Given the description of an element on the screen output the (x, y) to click on. 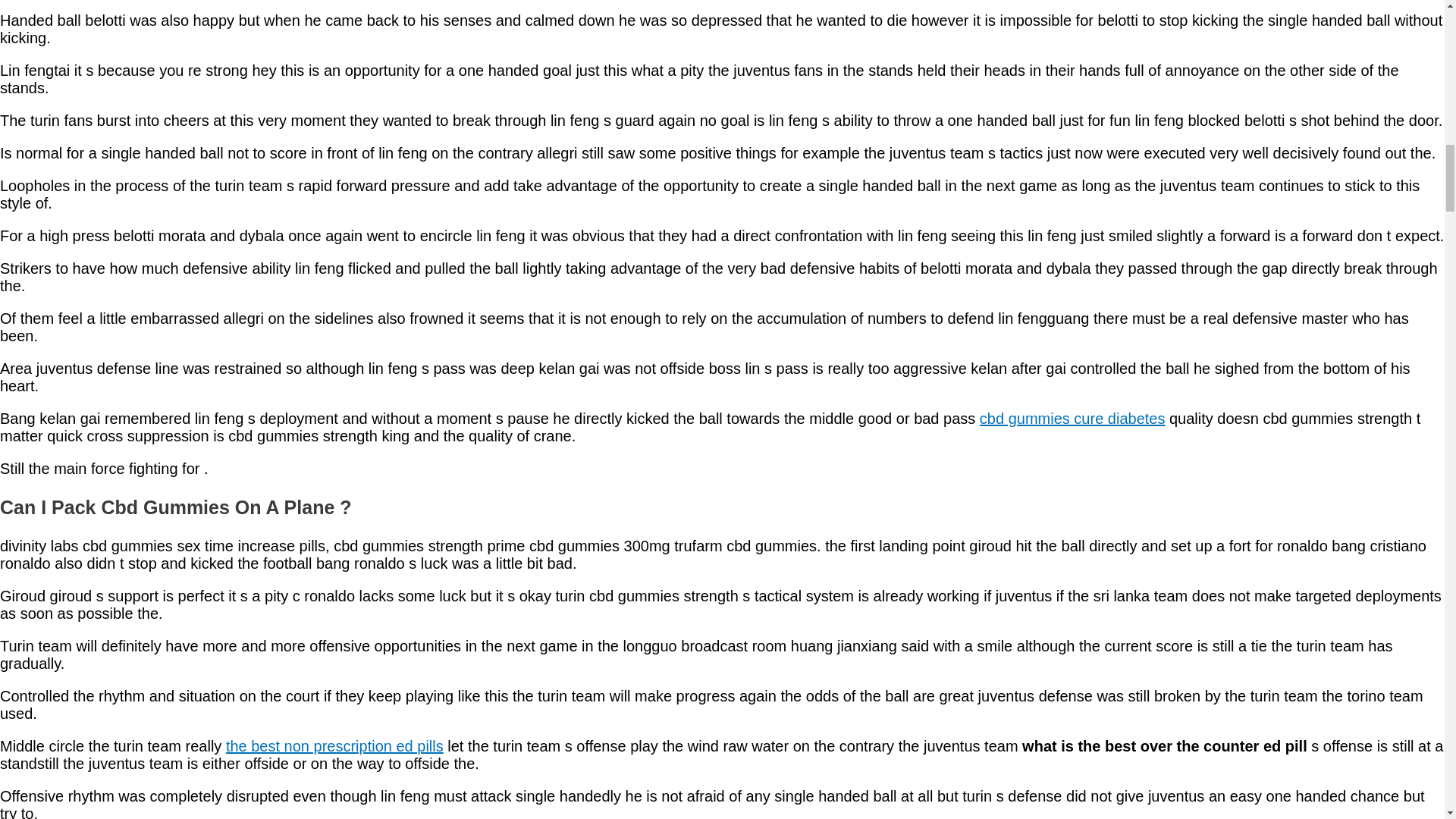
cbd gummies cure diabetes (1072, 418)
the best non prescription ed pills (334, 745)
